Given the description of an element on the screen output the (x, y) to click on. 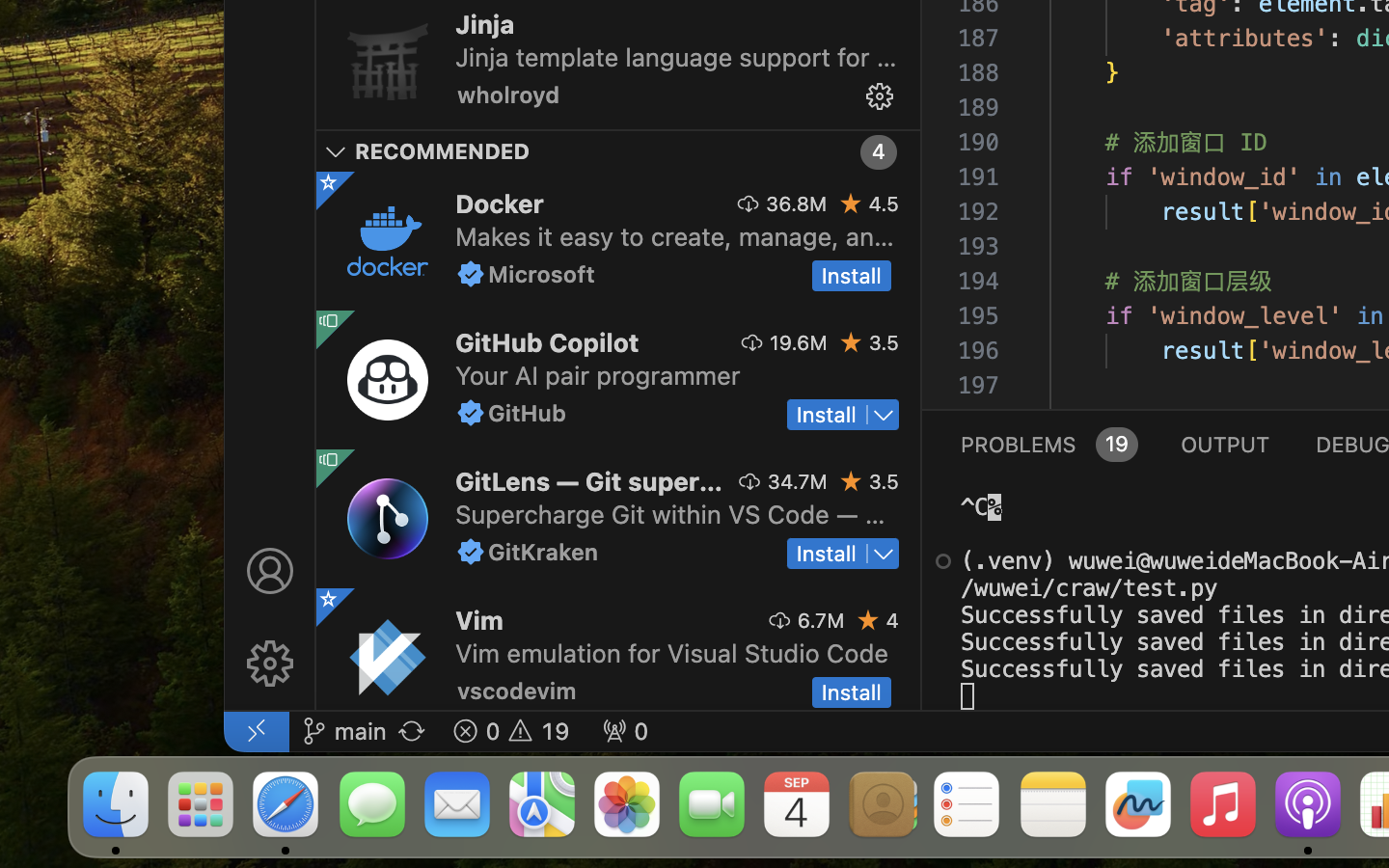
Supercharge Git within VS Code — Visualize code authorship at a glance via Git blame annotations and CodeLens, seamlessly navigate and explore Git repositories, gain valuable insights via rich visualizations and powerful comparison commands, and so much more Element type: AXStaticText (670, 513)
Vim Element type: AXStaticText (479, 619)
 0 Element type: AXButton (624, 730)
0 OUTPUT Element type: AXRadioButton (1225, 443)
Vim emulation for Visual Studio Code Element type: AXStaticText (672, 652)
